Given the description of an element on the screen output the (x, y) to click on. 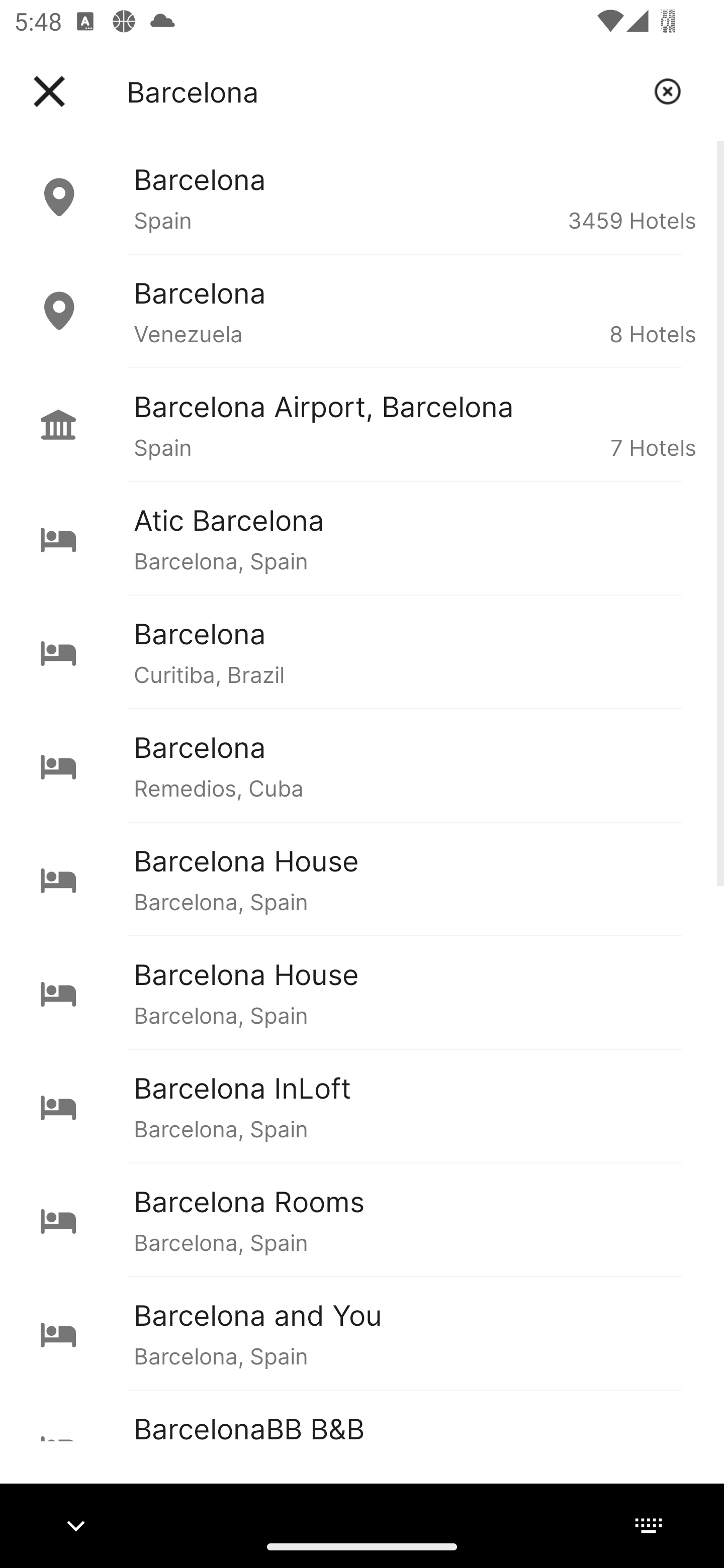
Barcelona (382, 91)
Barcelona Spain 3459 Hotels (362, 197)
Barcelona Venezuela 8 Hotels (362, 310)
Barcelona Airport, Barcelona Spain 7 Hotels (362, 424)
Atic Barcelona Barcelona, Spain (362, 537)
Barcelona Curitiba, Brazil (362, 651)
Barcelona Remedios, Cuba (362, 764)
Barcelona House Barcelona, Spain (362, 878)
Barcelona House Barcelona, Spain (362, 992)
Barcelona InLoft Barcelona, Spain (362, 1105)
Barcelona Rooms Barcelona, Spain (362, 1219)
Barcelona and You Barcelona, Spain (362, 1332)
